Given the description of an element on the screen output the (x, y) to click on. 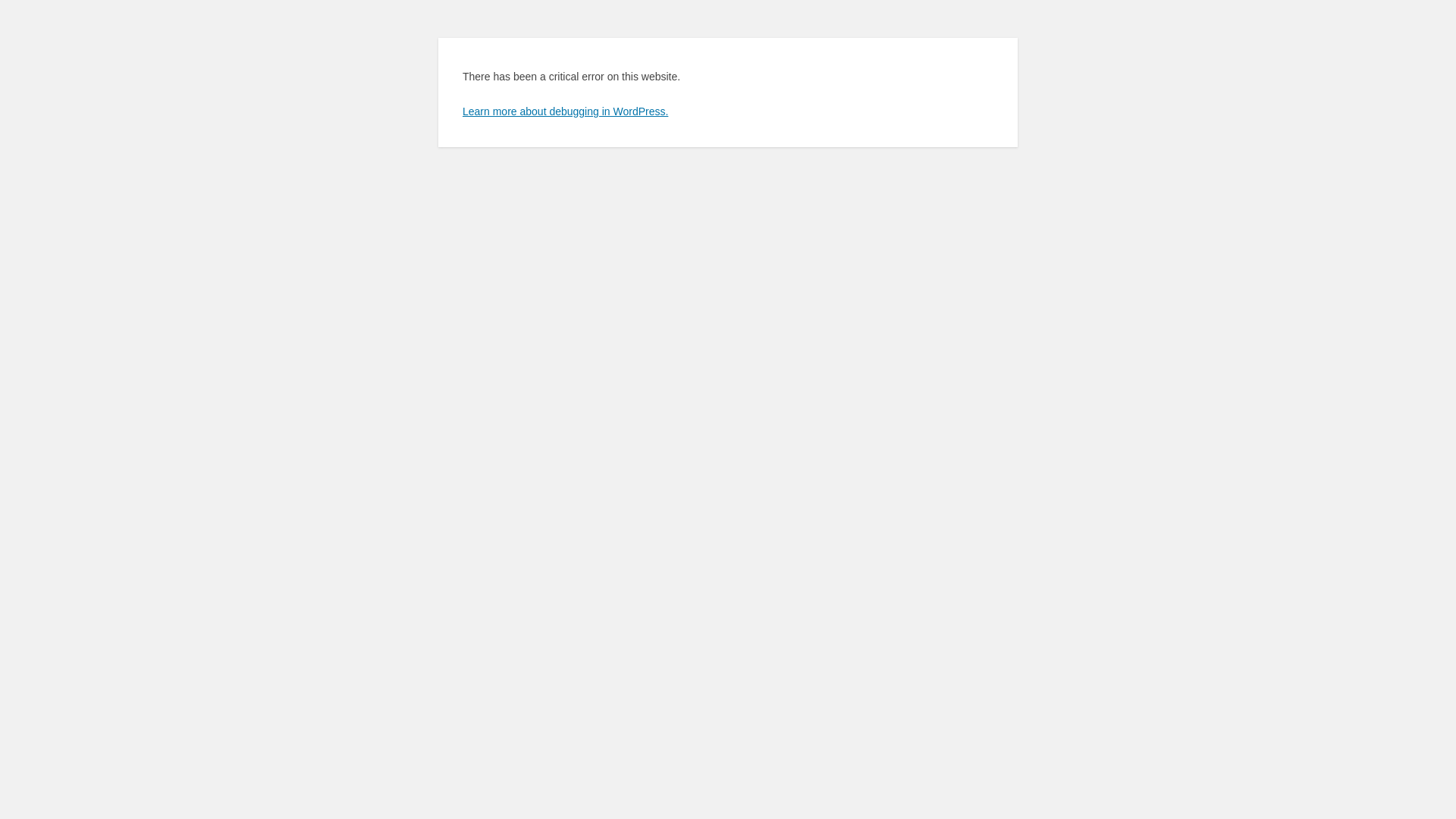
Learn more about debugging in WordPress. Element type: text (565, 111)
